Given the description of an element on the screen output the (x, y) to click on. 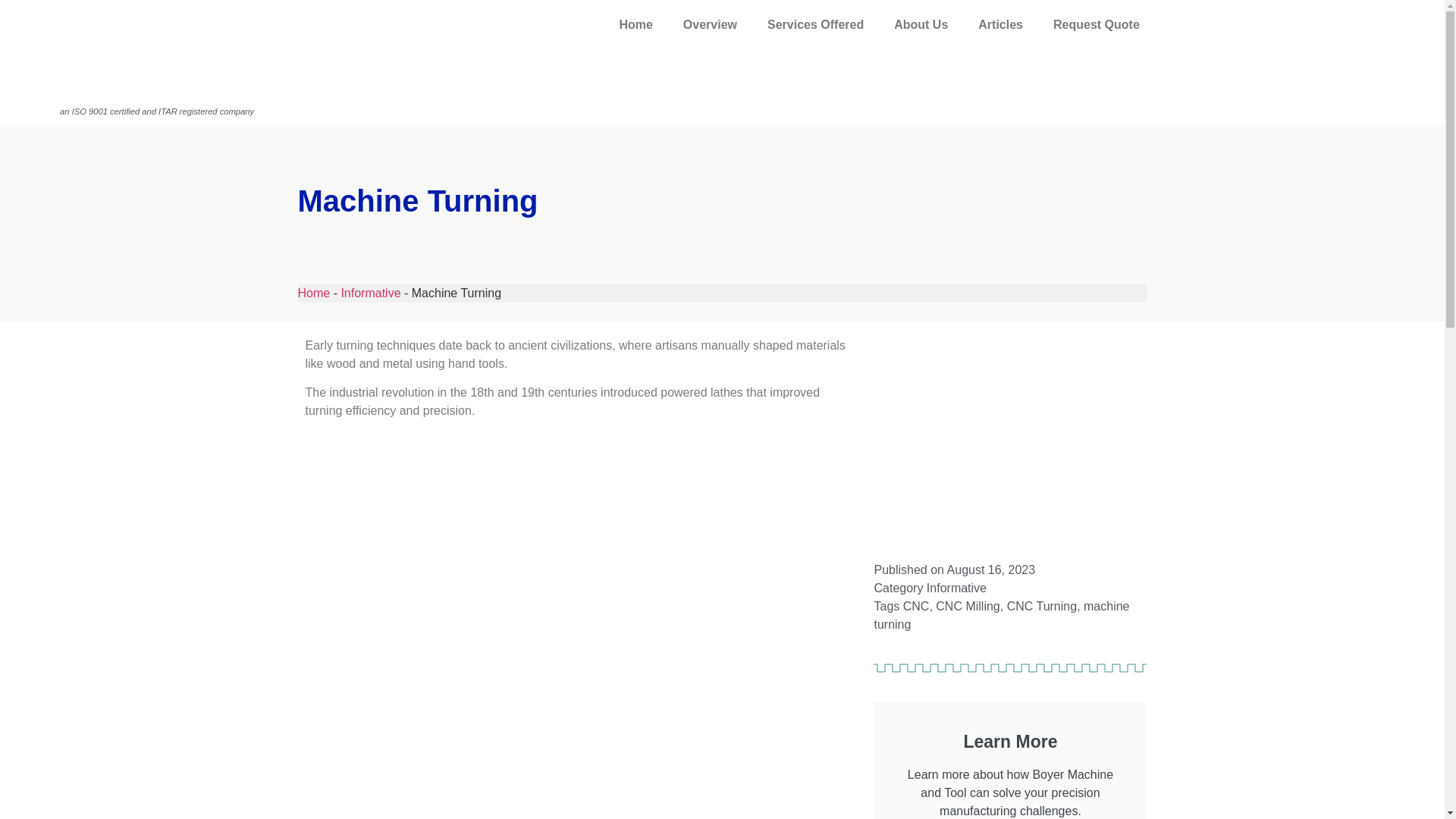
CNC Milling (967, 605)
Home (635, 24)
CNC (916, 605)
About Us (920, 24)
Home (313, 292)
CNC Turning (1042, 605)
machine turning (1001, 614)
Services Offered (815, 24)
Overview (710, 24)
Informative (370, 292)
Articles (1000, 24)
Informative (956, 587)
Published on August 16, 2023 (954, 570)
Request Quote (1096, 24)
